Given the description of an element on the screen output the (x, y) to click on. 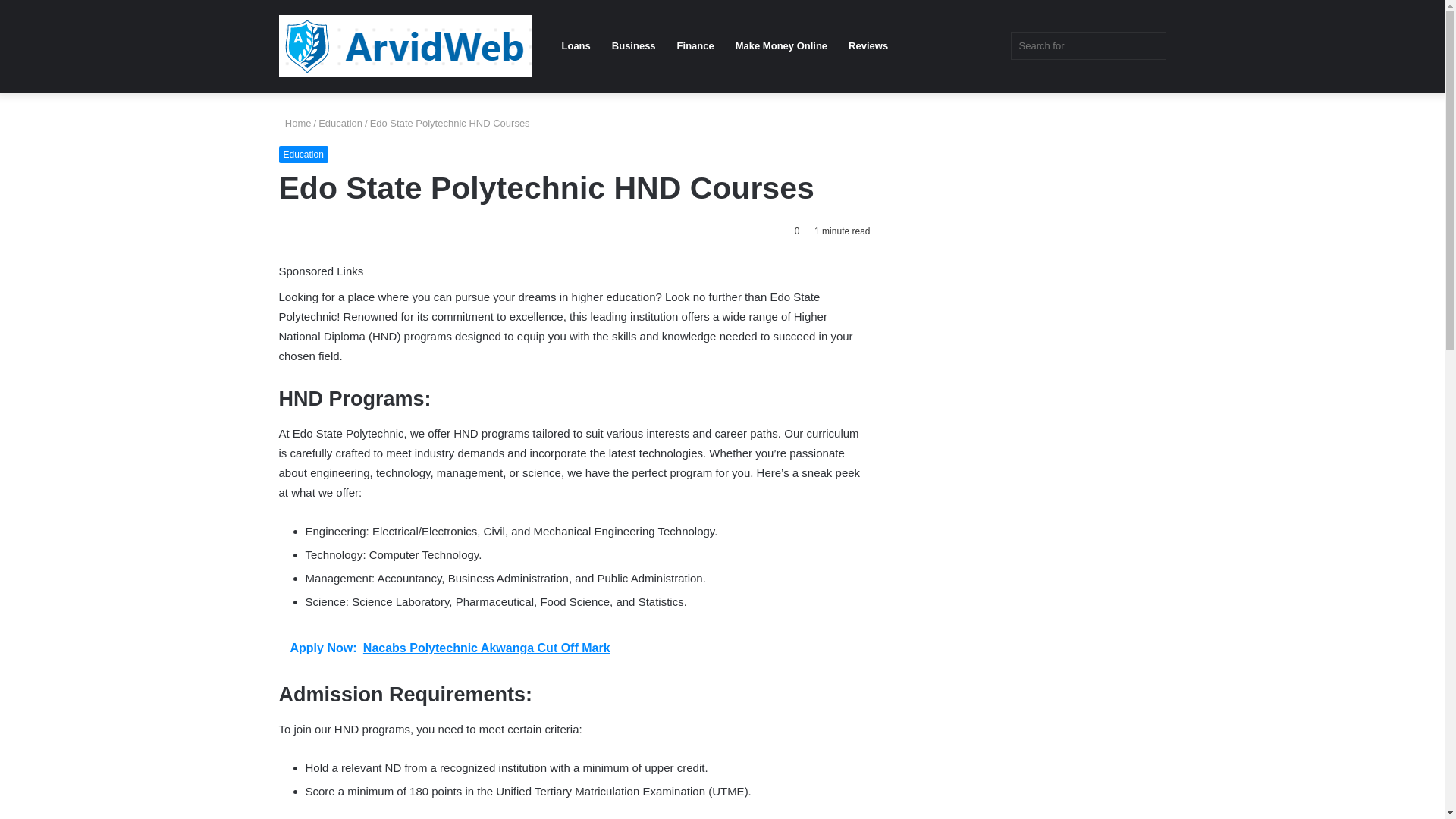
Home (295, 122)
Apply Now:  Nacabs Polytechnic Akwanga Cut Off Mark (574, 648)
Search for (1088, 45)
Education (340, 122)
Make Money Online (781, 46)
Education (304, 154)
ArvidWeb (405, 45)
